Given the description of an element on the screen output the (x, y) to click on. 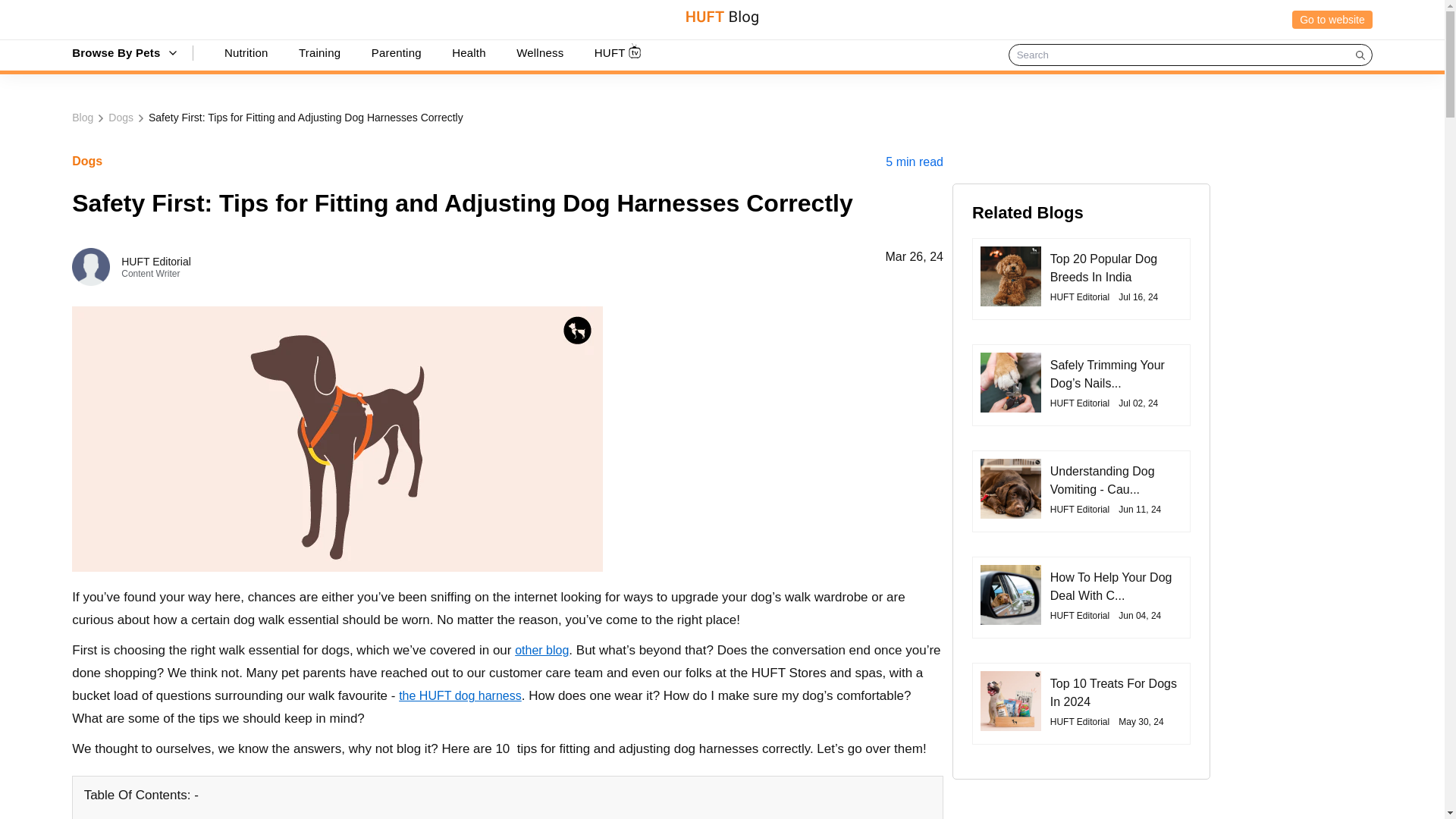
Dogs (120, 116)
Go to website (1332, 19)
Blog (82, 116)
other blog (542, 649)
Browse By Pets (115, 51)
Nutrition (245, 51)
Training (319, 51)
the HUFT dog harness (459, 695)
Parenting (396, 51)
Health (468, 51)
HUFT (610, 51)
Wellness (539, 51)
